Given the description of an element on the screen output the (x, y) to click on. 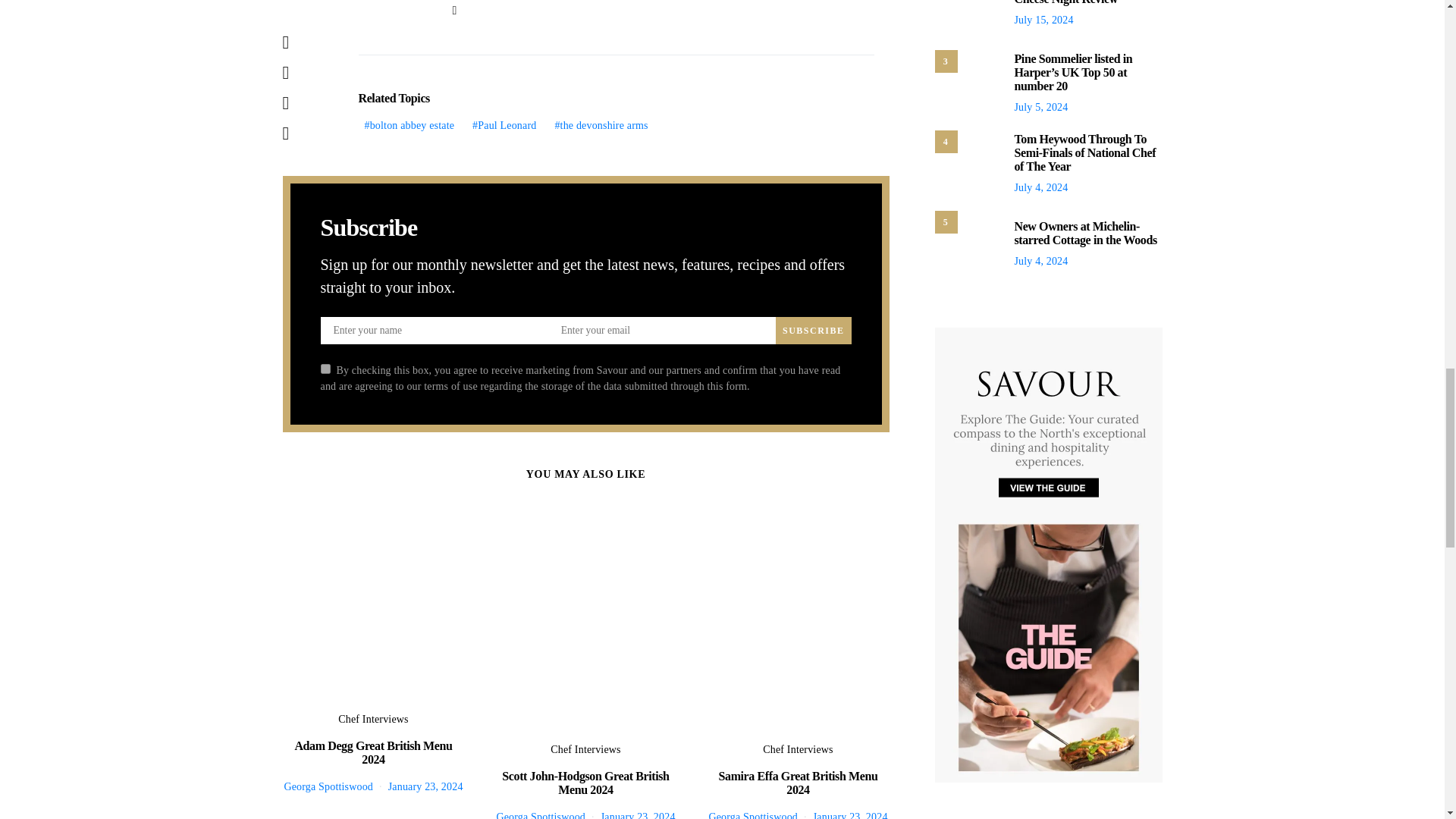
View all posts by Georga Spottiswood (752, 815)
View all posts by Georga Spottiswood (540, 815)
on (325, 368)
View all posts by Georga Spottiswood (327, 786)
